Given the description of an element on the screen output the (x, y) to click on. 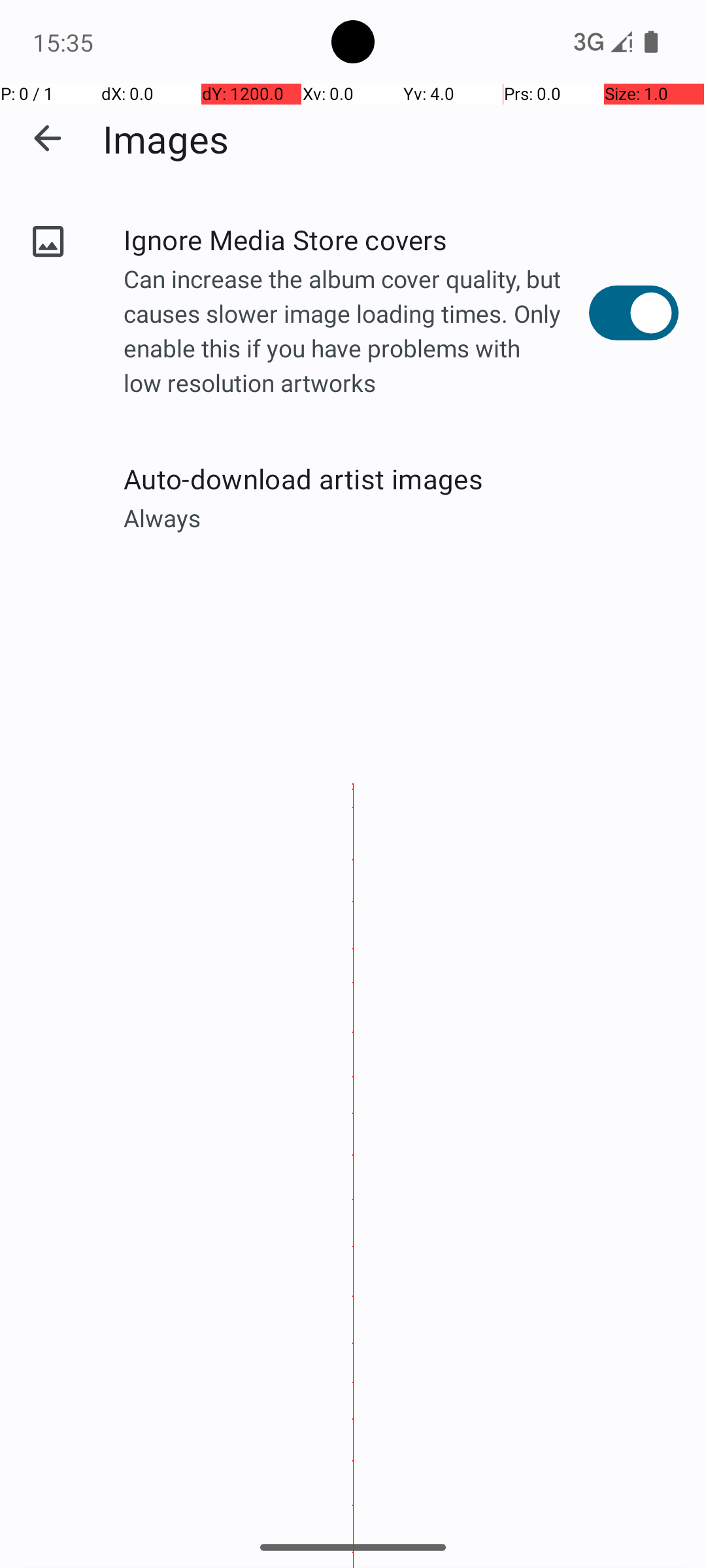
Ignore Media Store covers Element type: android.widget.TextView (355, 239)
Can increase the album cover quality, but causes slower image loading times. Only enable this if you have problems with low resolution artworks Element type: android.widget.TextView (355, 333)
Auto-download artist images Element type: android.widget.TextView (400, 478)
Always Element type: android.widget.TextView (400, 517)
